Given the description of an element on the screen output the (x, y) to click on. 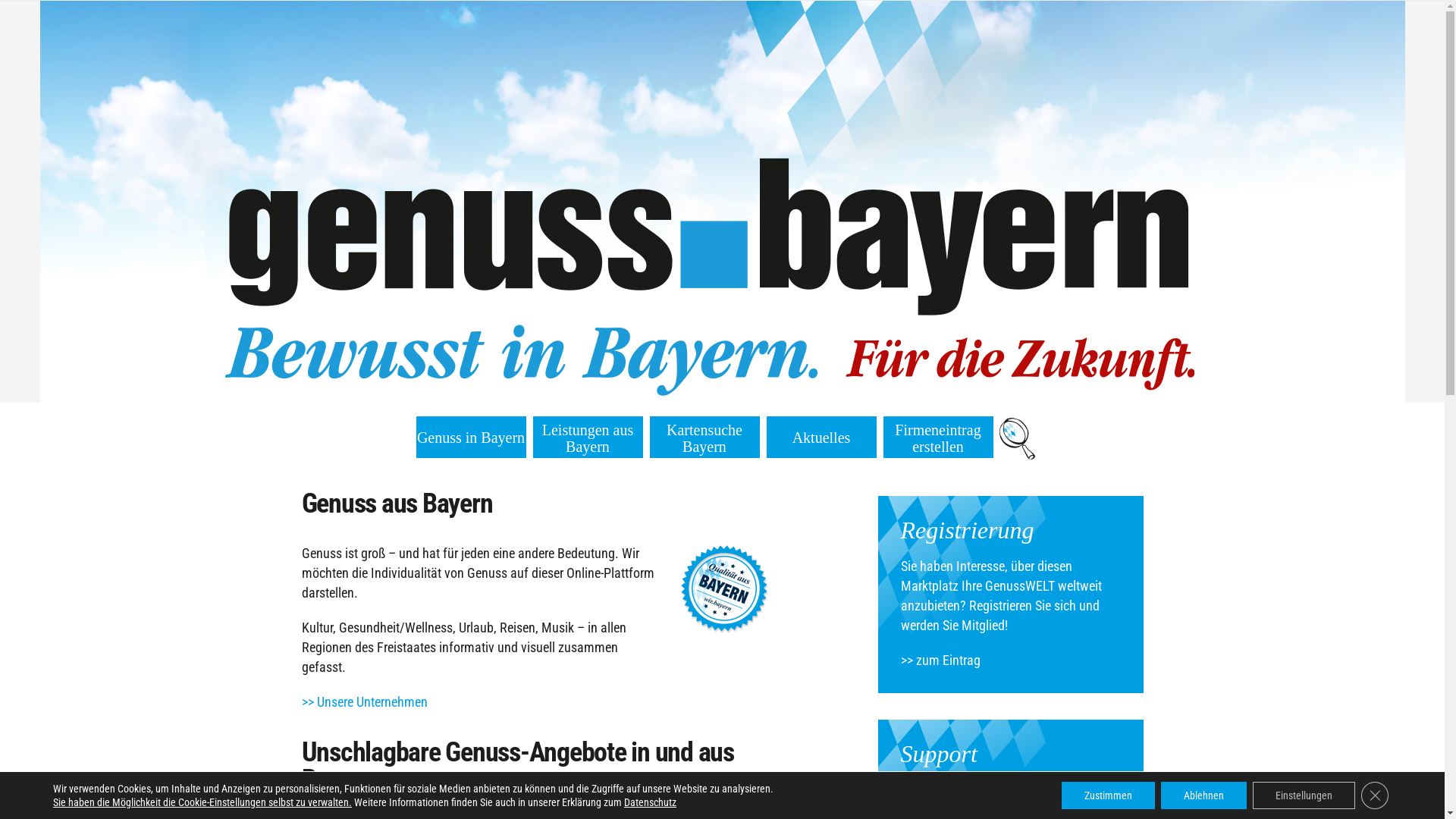
>> Unsere Unternehmen Element type: text (364, 701)
qualitaet-aus-bayern Element type: hover (724, 588)
Datenschutz Element type: text (650, 802)
>> zum Eintrag Element type: text (940, 660)
Einstellungen Element type: text (1303, 795)
Zustimmen Element type: text (1107, 795)
Leistungen aus Bayern Element type: text (587, 438)
Aktuelles Element type: text (821, 437)
Genuss in Bayern Element type: text (470, 437)
Kartensuche Bayern Element type: text (704, 438)
Firmeneintrag erstellen Element type: text (937, 438)
Ablehnen Element type: text (1203, 795)
